Given the description of an element on the screen output the (x, y) to click on. 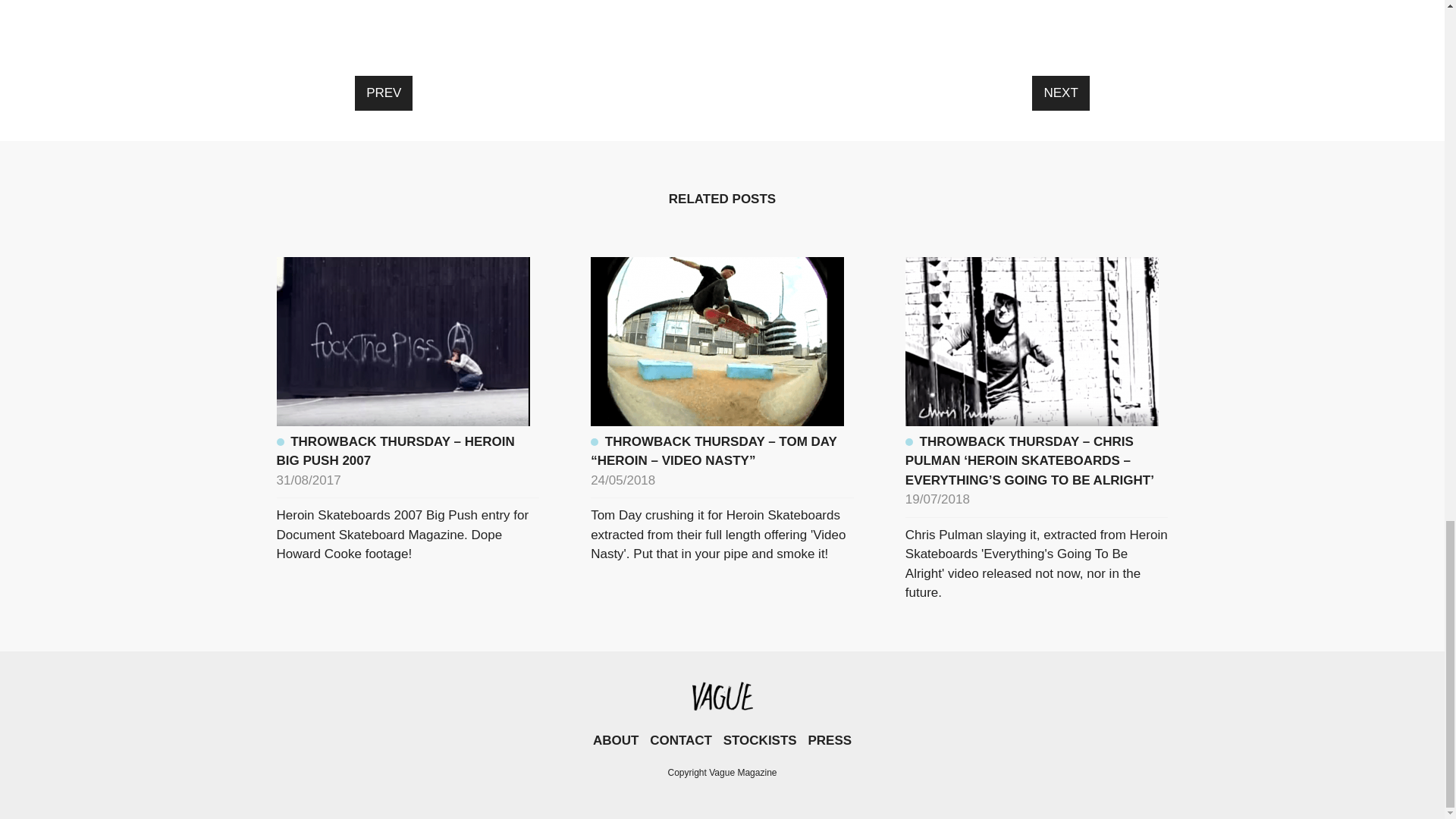
STOCKISTS (759, 740)
PRESS (829, 740)
NEXT (1060, 93)
CONTACT (680, 740)
ABOUT (615, 740)
PREV (383, 93)
